Given the description of an element on the screen output the (x, y) to click on. 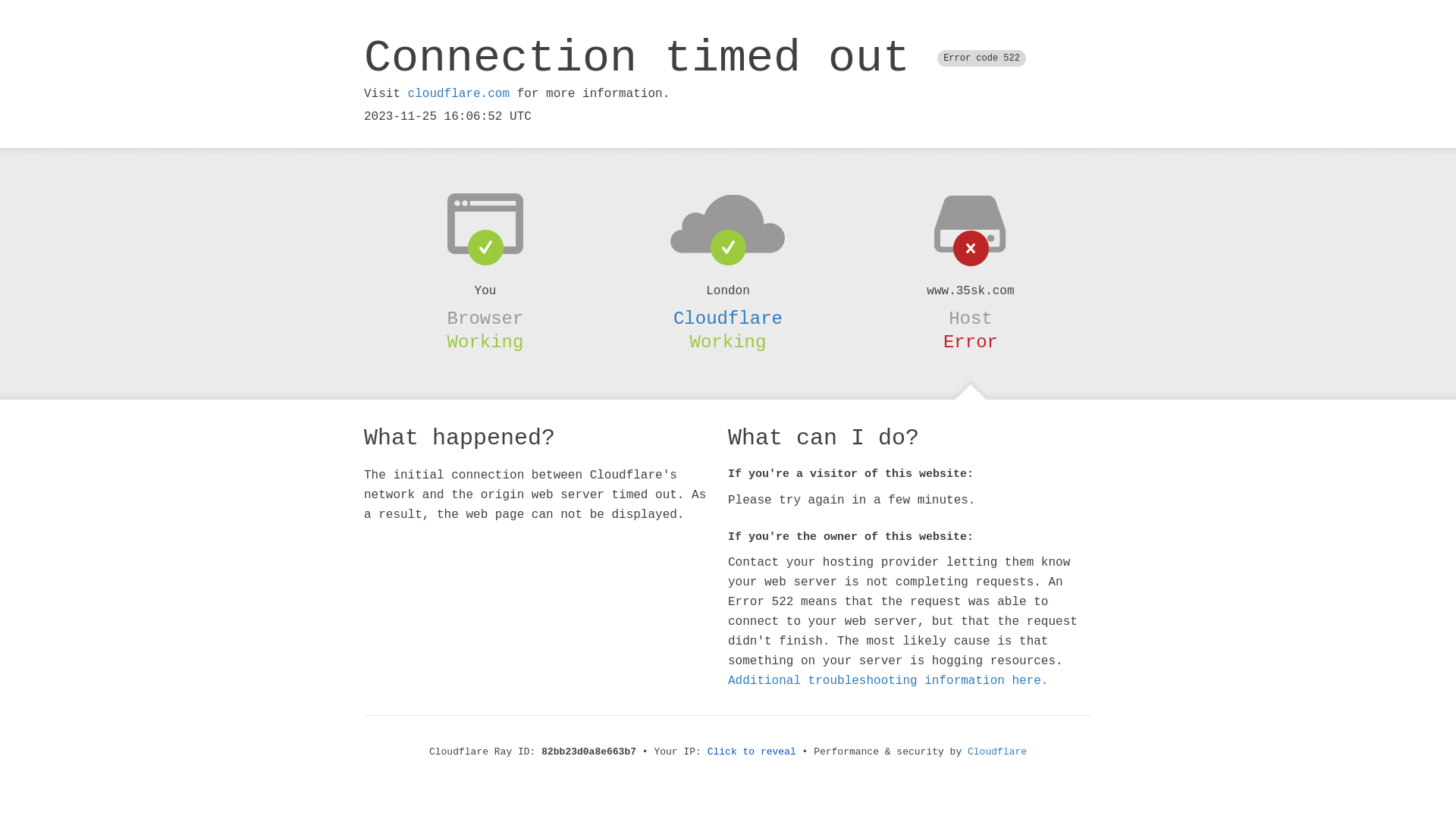
Click to reveal Element type: text (751, 751)
Cloudflare Element type: text (727, 318)
Additional troubleshooting information here. Element type: text (888, 680)
Cloudflare Element type: text (996, 751)
cloudflare.com Element type: text (458, 93)
